Given the description of an element on the screen output the (x, y) to click on. 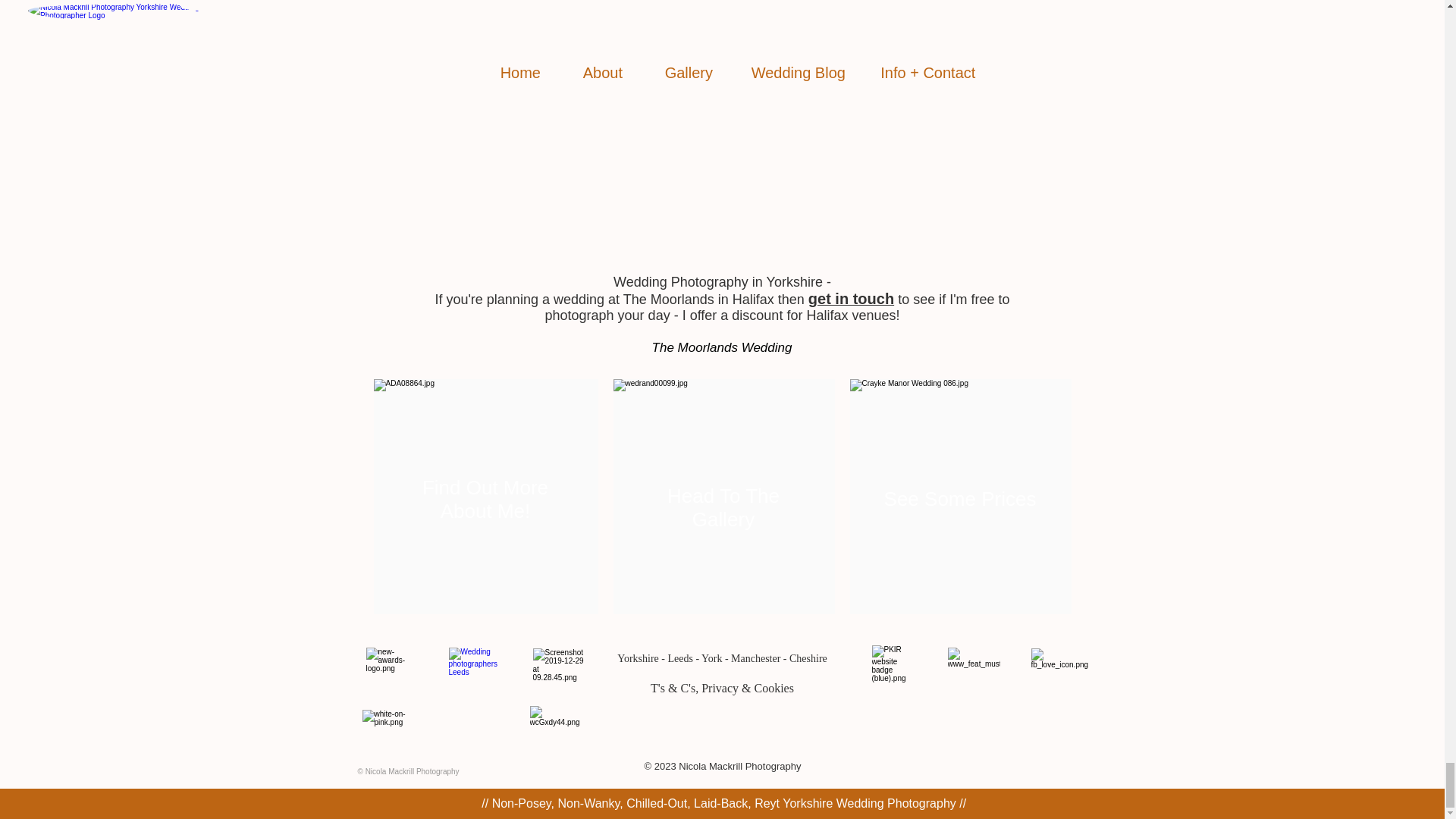
The Moorlands Wedding (722, 347)
See Some Prices (959, 498)
Head To The Gallery (722, 507)
Find Out More About Me! (485, 498)
get in touch (850, 299)
